Given the description of an element on the screen output the (x, y) to click on. 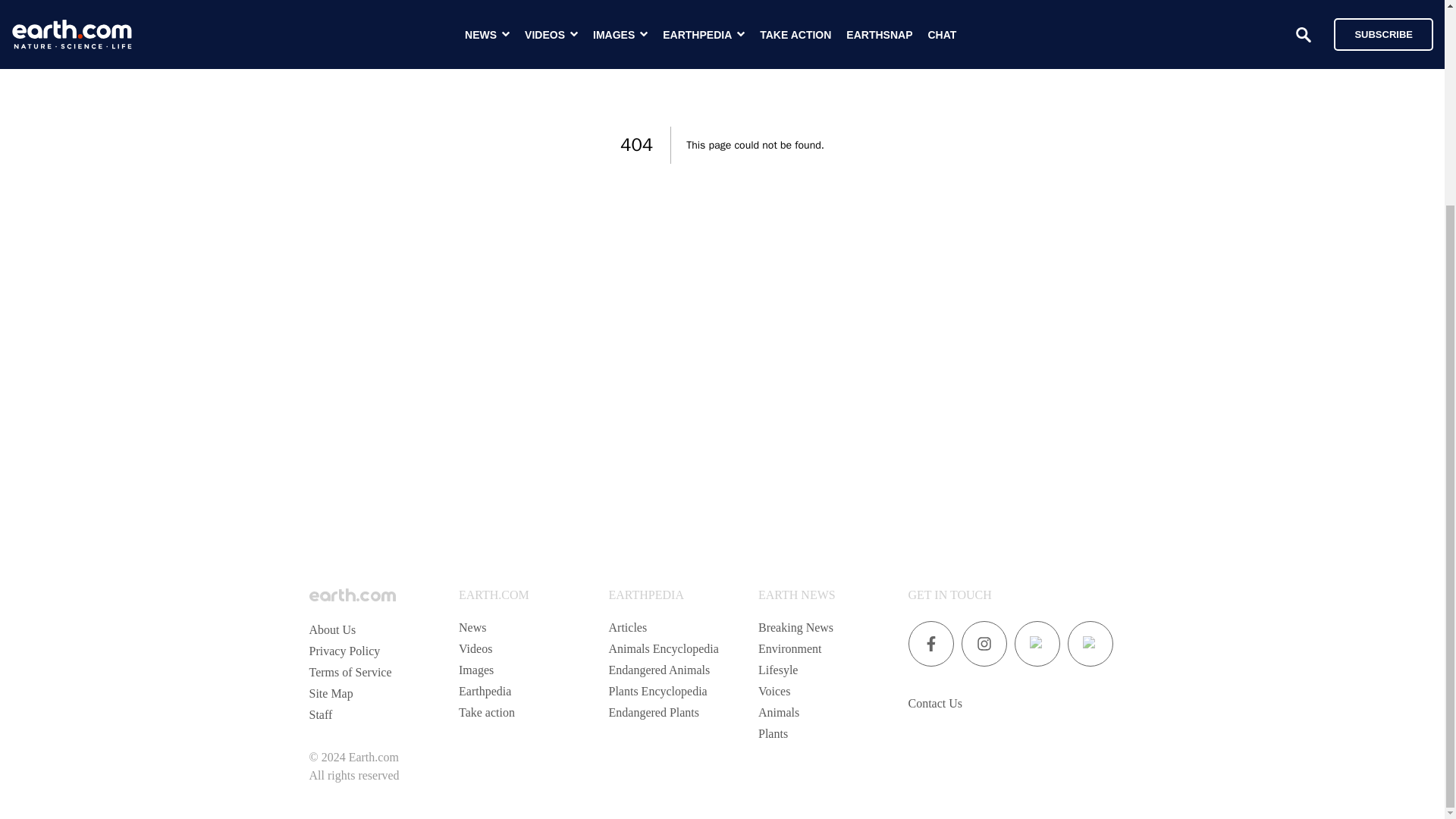
Breaking News (795, 626)
Privacy Policy (344, 650)
Images (475, 669)
Lifesyle (777, 669)
Animals Encyclopedia (662, 648)
Contact Us (935, 703)
Endangered Plants (653, 712)
Voices (774, 690)
Plants (772, 733)
Terms of Service (349, 671)
Earthpedia (484, 690)
Plants Encyclopedia (657, 690)
About Us (332, 629)
Staff (320, 714)
Environment (790, 648)
